Given the description of an element on the screen output the (x, y) to click on. 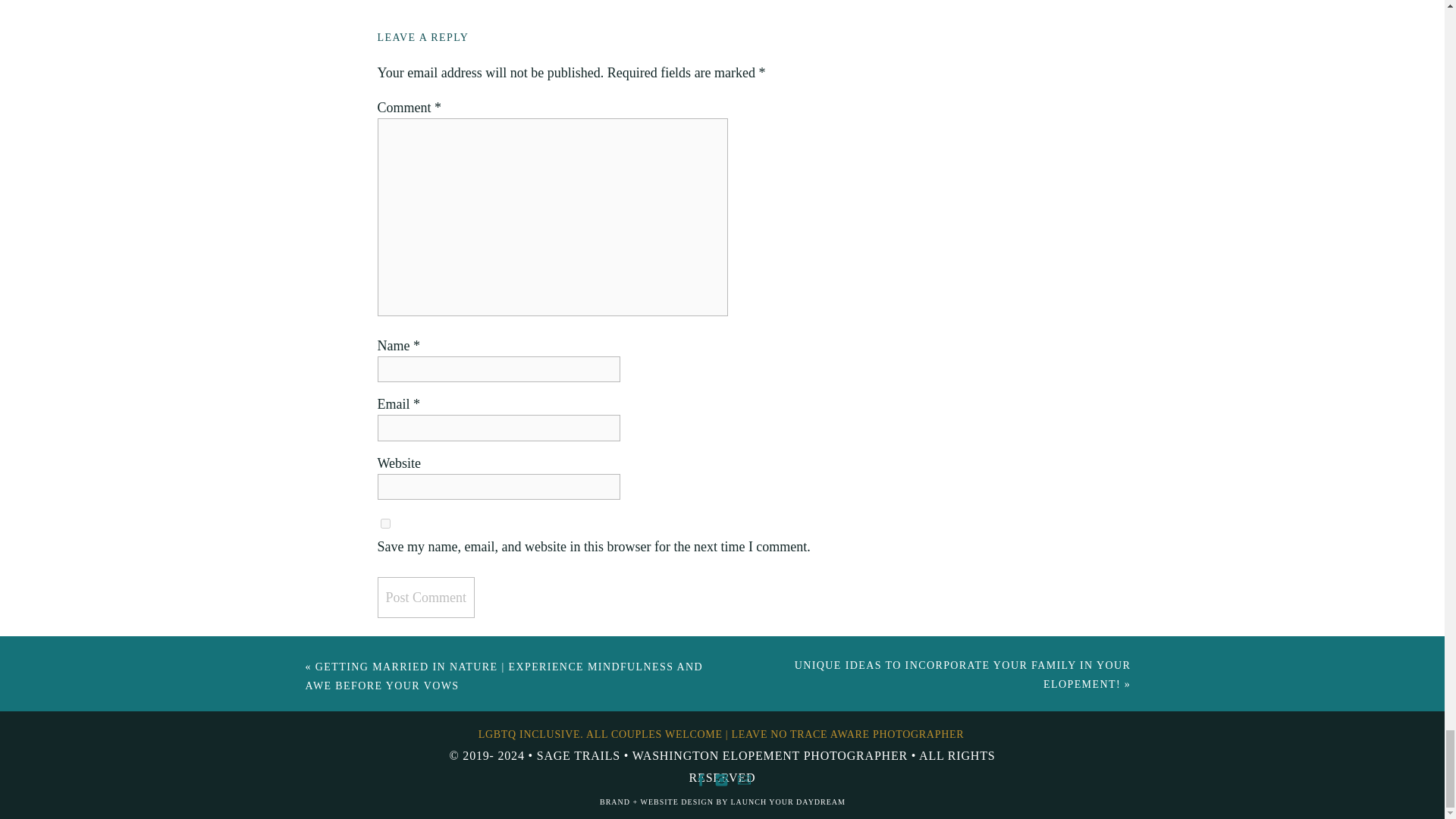
yes (385, 523)
Post Comment (426, 597)
